Given the description of an element on the screen output the (x, y) to click on. 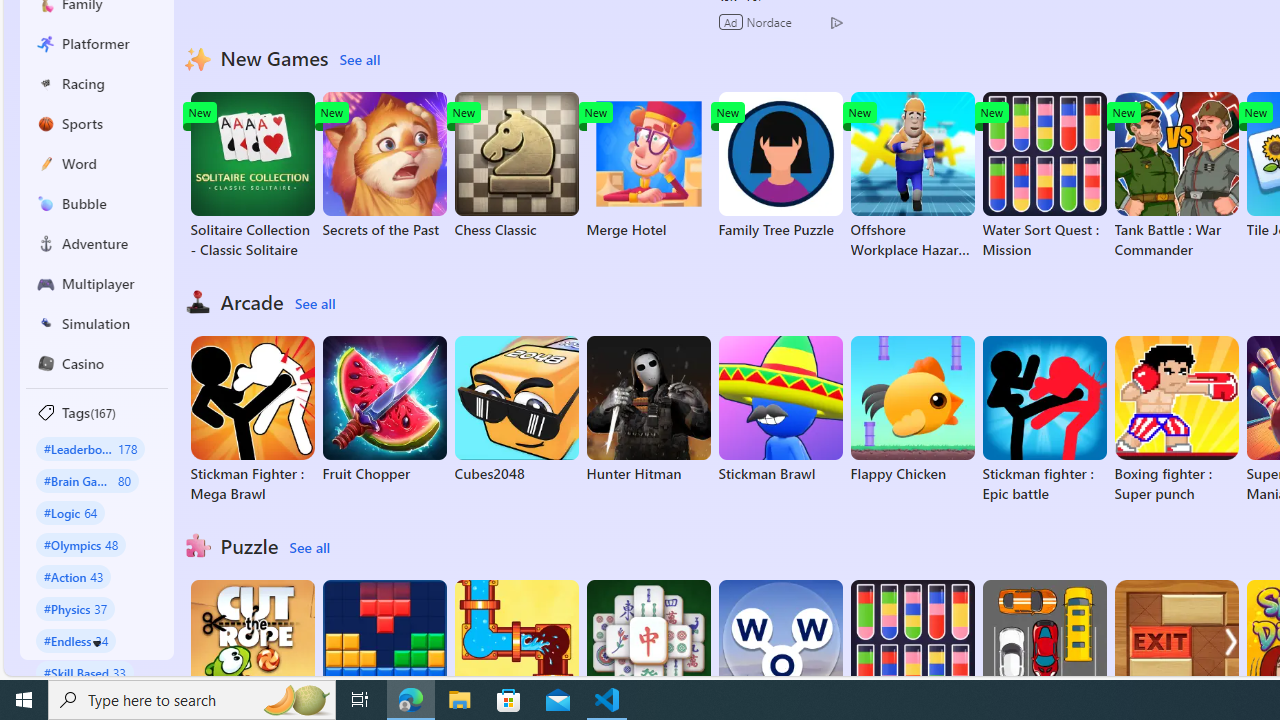
Class: ad-choice  ad-choice-mono  (836, 21)
#Brain Games 80 (87, 480)
#Physics 37 (75, 608)
Fruit Chopper (384, 409)
See all (309, 547)
#Logic 64 (70, 511)
Class: arrow-bottom button-default-style-remove (97, 643)
Tank Battle : War Commander (1176, 175)
Boxing fighter : Super punch (1176, 419)
Merge Hotel (648, 165)
Stickman Brawl (780, 409)
